Given the description of an element on the screen output the (x, y) to click on. 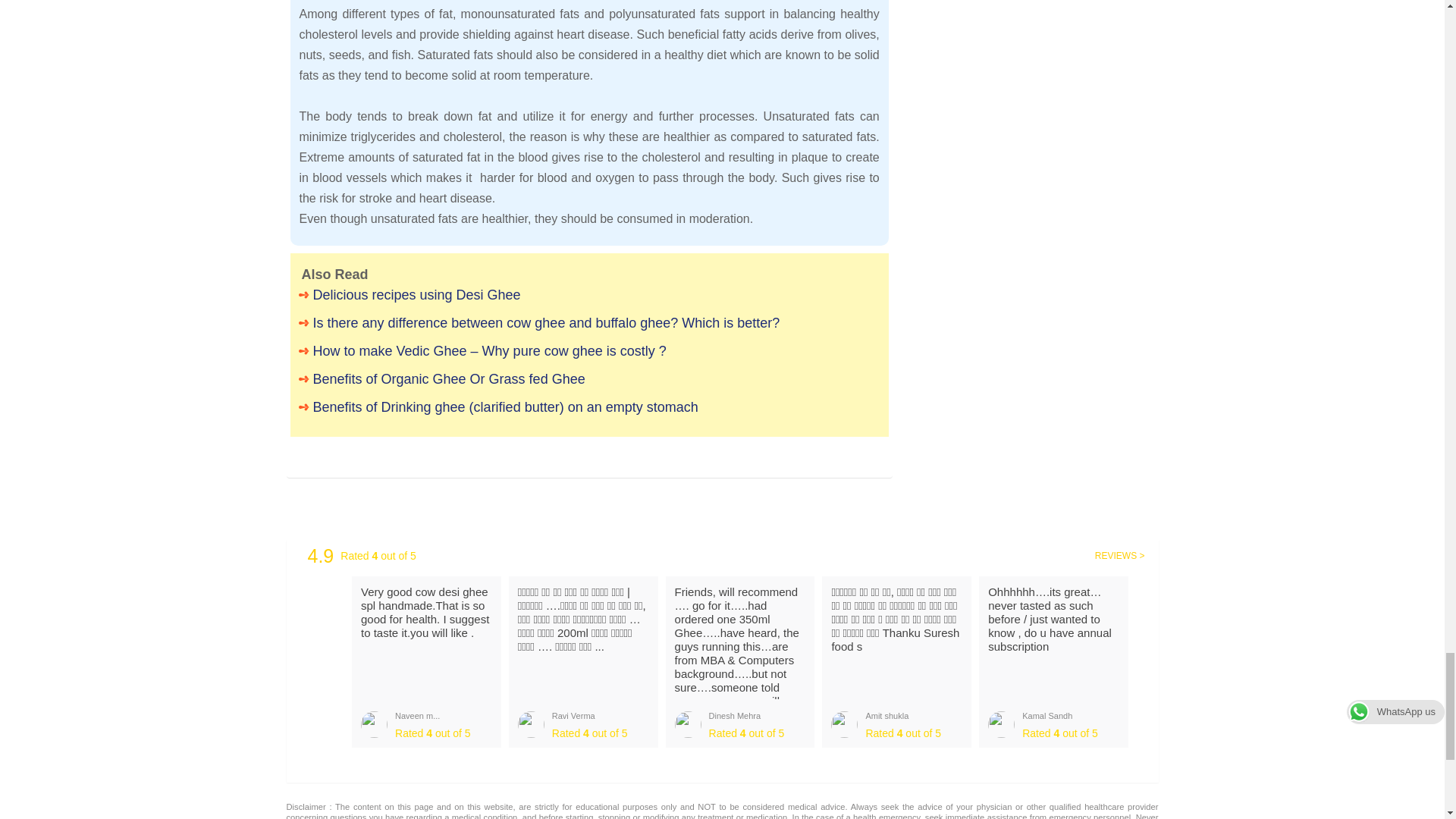
Delicious recipes using Desi Ghee (589, 295)
Benefits of Organic Ghee Or Grass fed Ghee (589, 379)
Delicious recipes using Desi Ghee (589, 295)
Benefits of Organic Ghee Or Grass fed Ghee (589, 379)
